Given the description of an element on the screen output the (x, y) to click on. 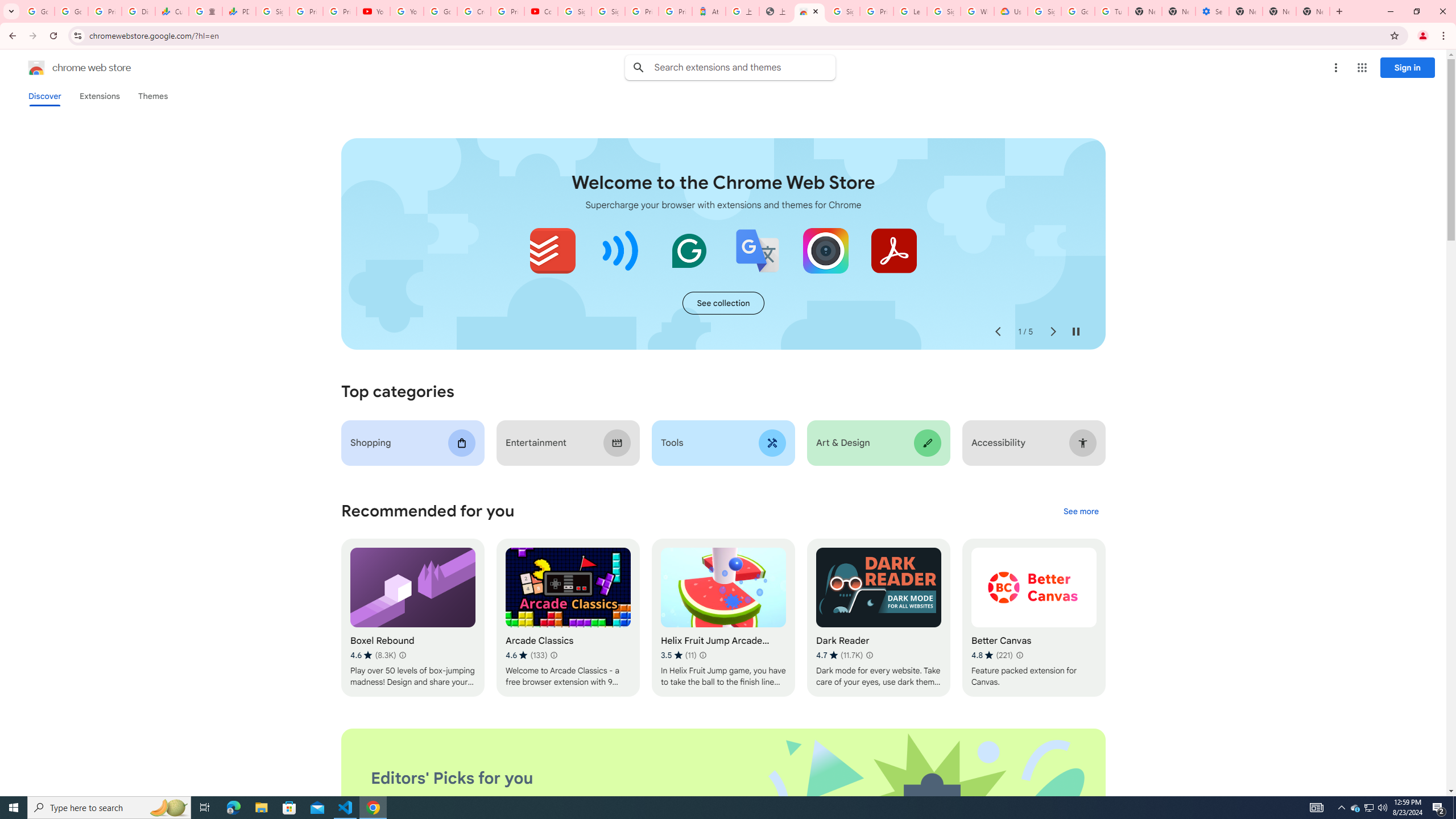
Extensions (99, 95)
Google Account Help (1077, 11)
Sign in - Google Accounts (608, 11)
YouTube (406, 11)
Learn more about results and reviews "Better Canvas" (1019, 655)
Previous slide (997, 331)
Chrome Web Store (809, 11)
Awesome Screen Recorder & Screenshot (825, 250)
Sign in - Google Accounts (574, 11)
Sign in - Google Accounts (1043, 11)
Tools (722, 443)
Shopping (412, 443)
